Given the description of an element on the screen output the (x, y) to click on. 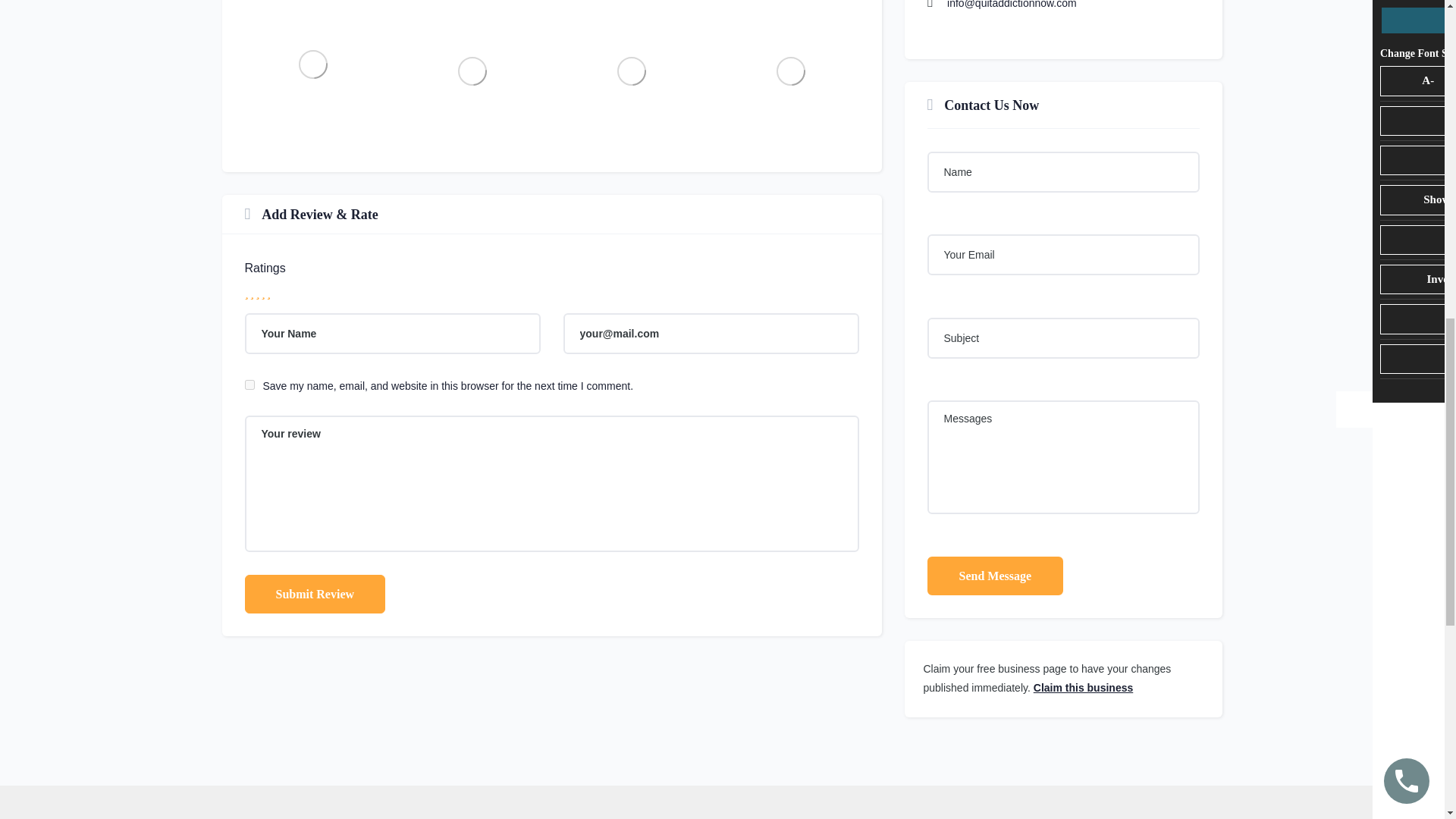
Submit Review (314, 593)
yes (248, 384)
Send Message (994, 575)
